Given the description of an element on the screen output the (x, y) to click on. 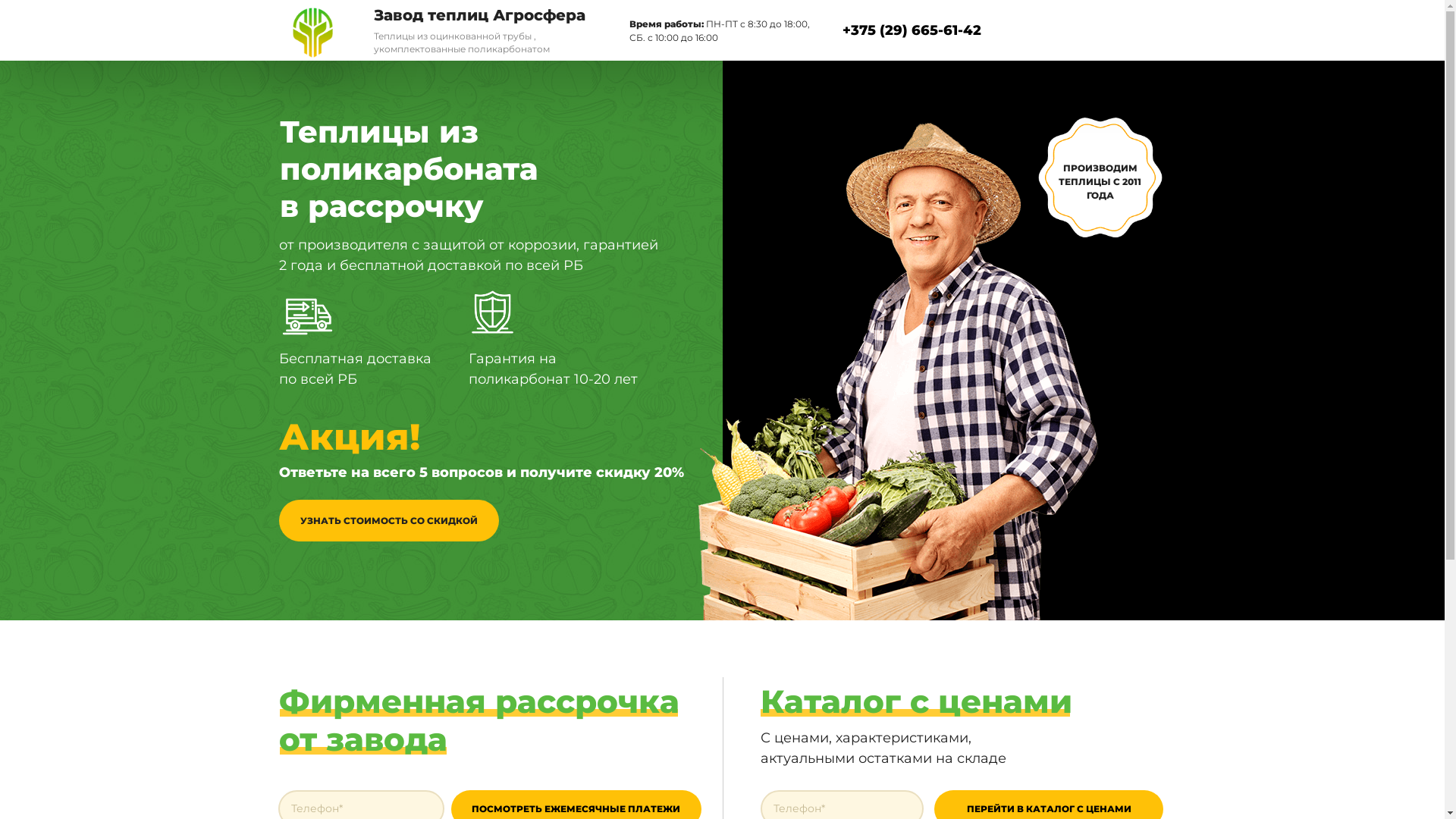
+375 (29) 665-61-42 Element type: text (911, 30)
